Given the description of an element on the screen output the (x, y) to click on. 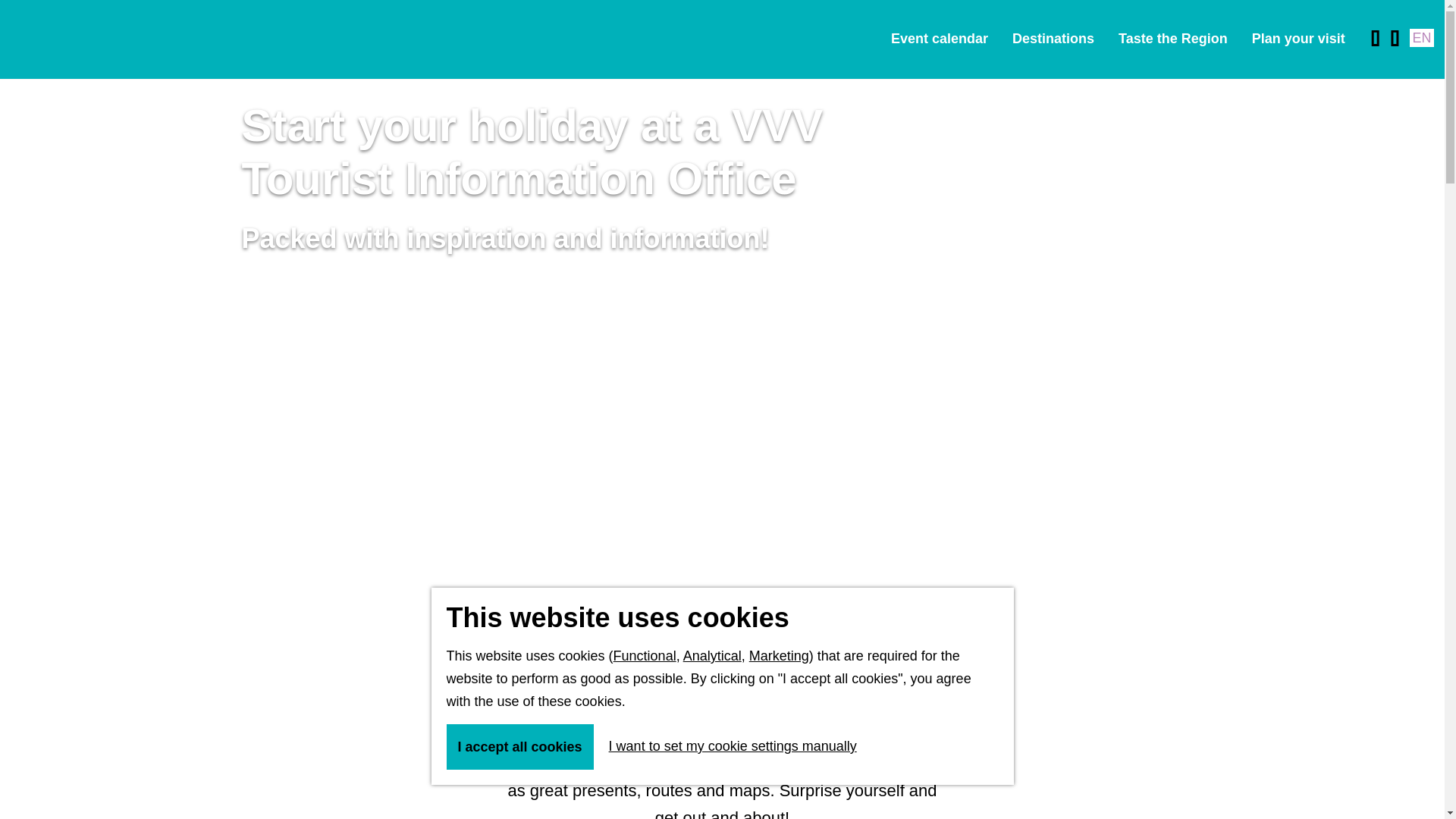
Plan your visit (1298, 39)
Event calendar (939, 39)
Go to the homepage of Streek van Verrassingen (105, 39)
Analytical (711, 655)
Destinations (1053, 39)
Marketing (779, 655)
Taste the Region (1172, 39)
I want to set my cookie settings manually (726, 745)
EN (1421, 37)
I accept all cookies (518, 746)
Functional (644, 655)
